Given the description of an element on the screen output the (x, y) to click on. 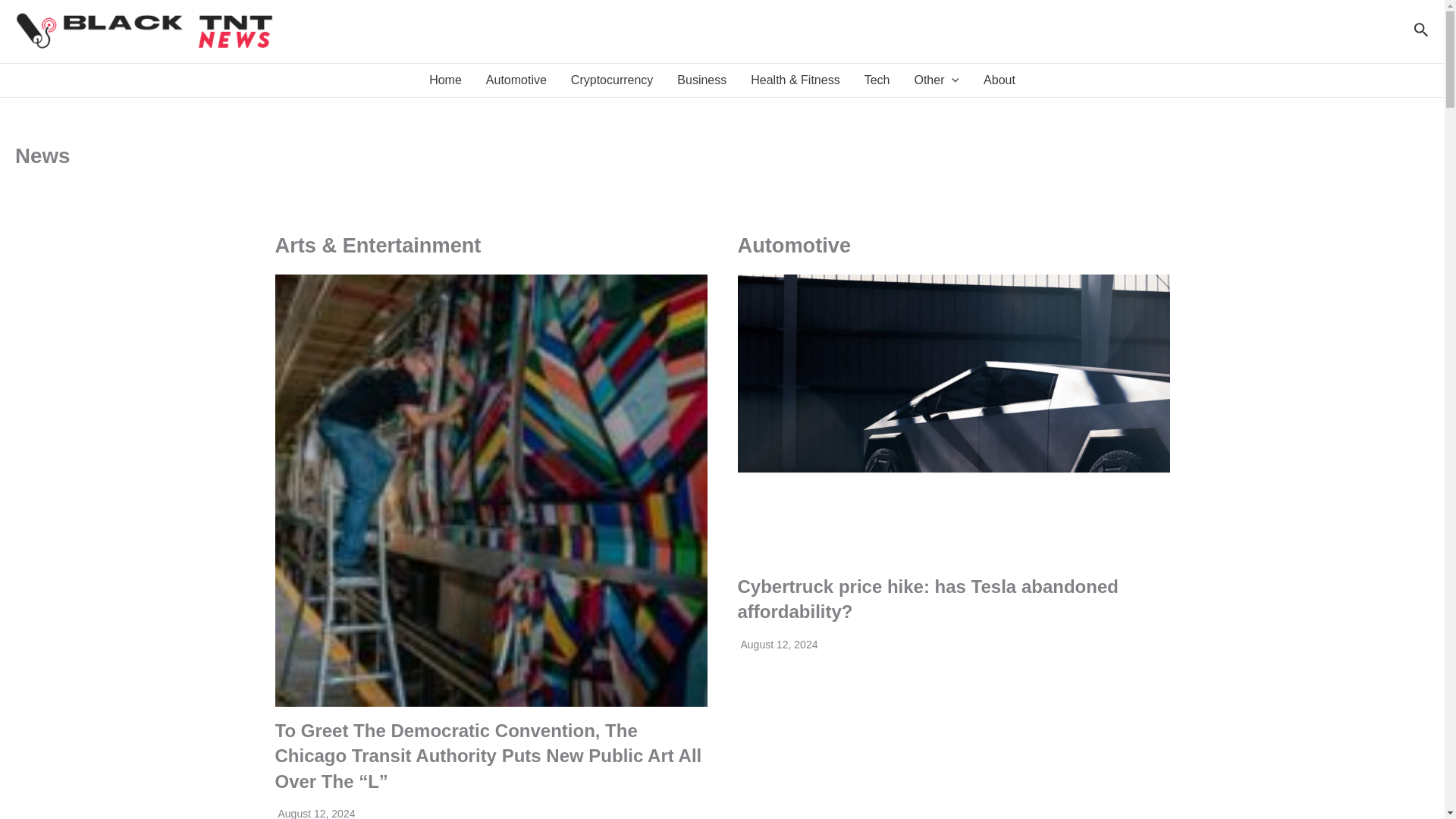
Home (445, 80)
Cryptocurrency (612, 80)
Tech (876, 80)
Business (701, 80)
Automotive (516, 80)
About (999, 80)
Other (936, 80)
